Given the description of an element on the screen output the (x, y) to click on. 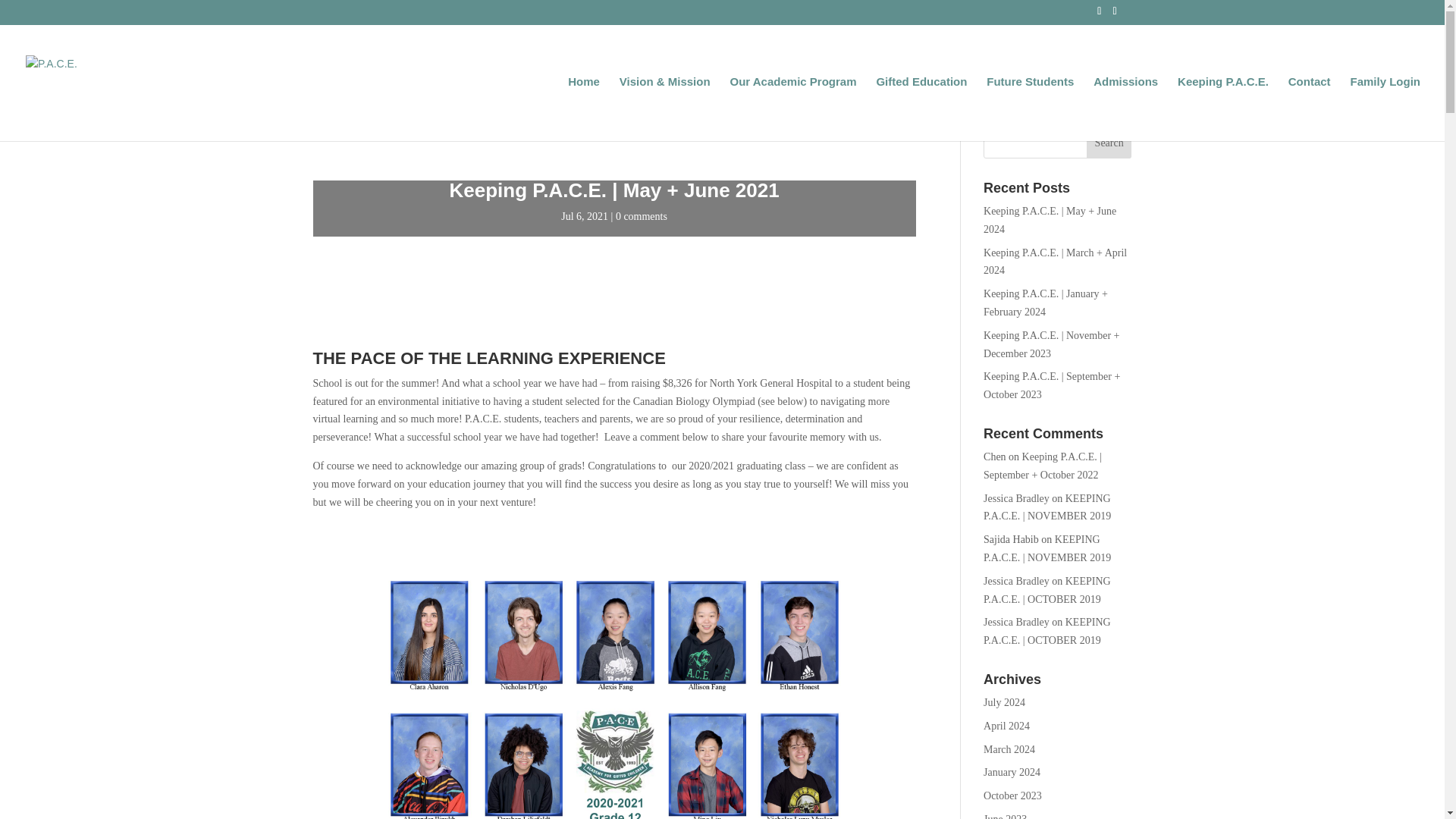
April 2024 (1006, 726)
Family Login (1385, 108)
July 2024 (1004, 702)
Admissions (1125, 108)
March 2024 (1009, 749)
Keeping P.A.C.E. (1222, 108)
Search (1109, 142)
Jessica Bradley (1016, 498)
Search (1109, 142)
Jessica Bradley (1016, 581)
Gifted Education (921, 108)
0 comments (640, 215)
January 2024 (1012, 772)
October 2023 (1013, 795)
